Given the description of an element on the screen output the (x, y) to click on. 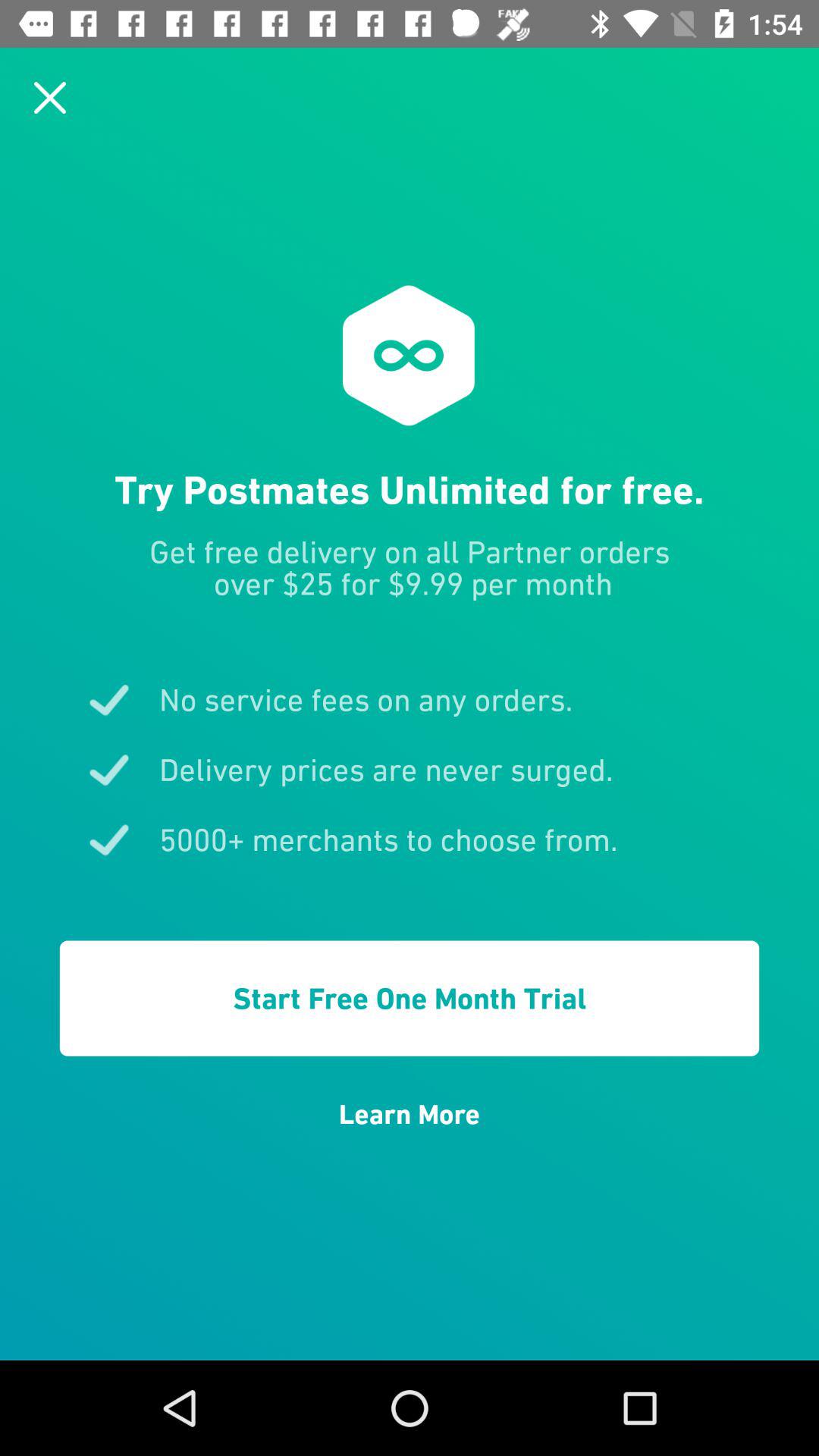
turn off item above the get free delivery icon (49, 97)
